Given the description of an element on the screen output the (x, y) to click on. 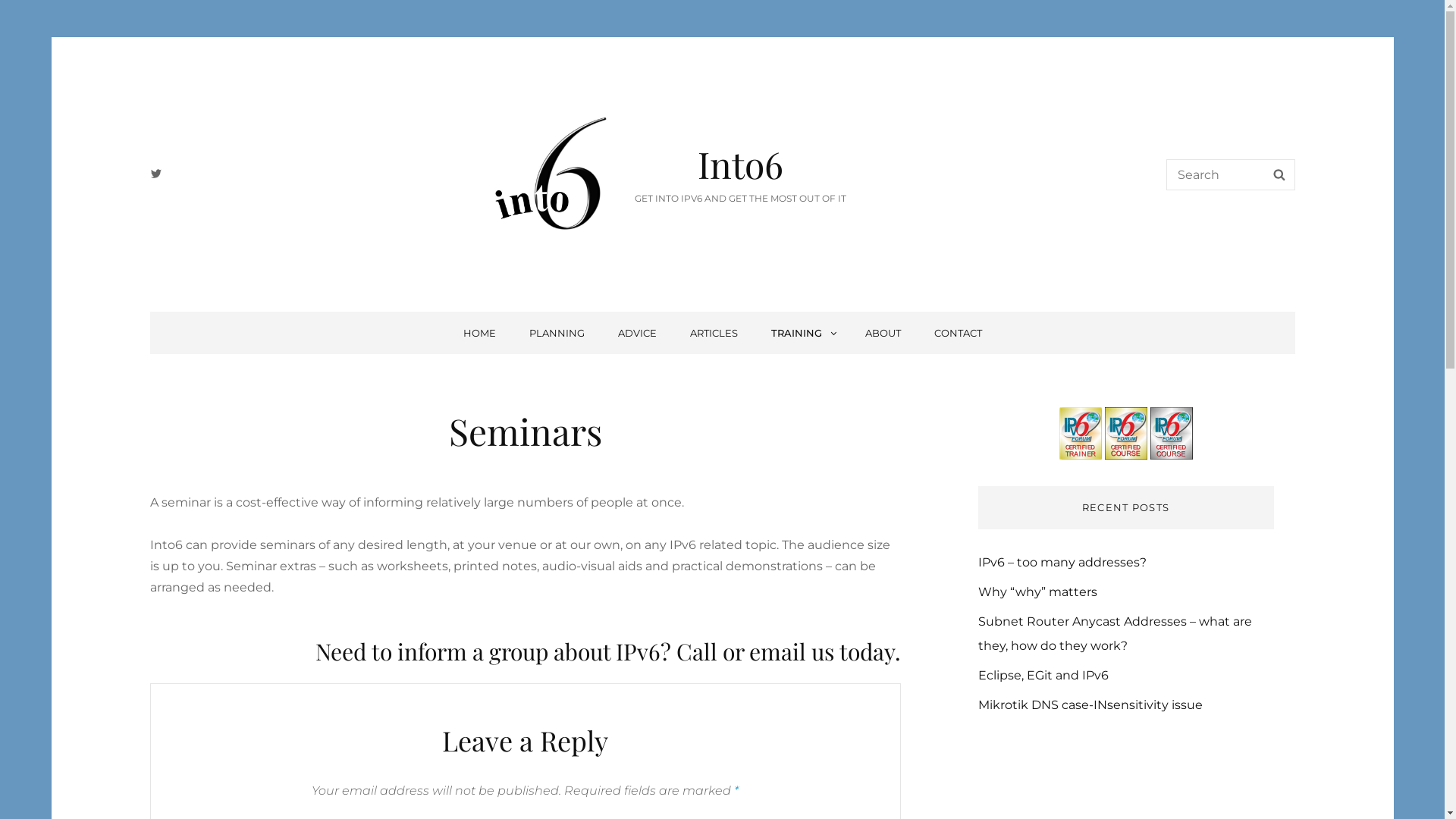
TRAINING Element type: text (800, 332)
SEARCH Element type: text (1278, 174)
Call or email us today Element type: text (785, 651)
PLANNING Element type: text (556, 332)
Eclipse, EGit and IPv6 Element type: text (1043, 675)
ADVICE Element type: text (636, 332)
CONTACT Element type: text (958, 332)
ABOUT Element type: text (882, 332)
Twitter Element type: text (155, 174)
Mikrotik DNS case-INsensitivity issue Element type: text (1090, 704)
HOME Element type: text (478, 332)
Into6 Element type: text (740, 163)
ARTICLES Element type: text (713, 332)
